Given the description of an element on the screen output the (x, y) to click on. 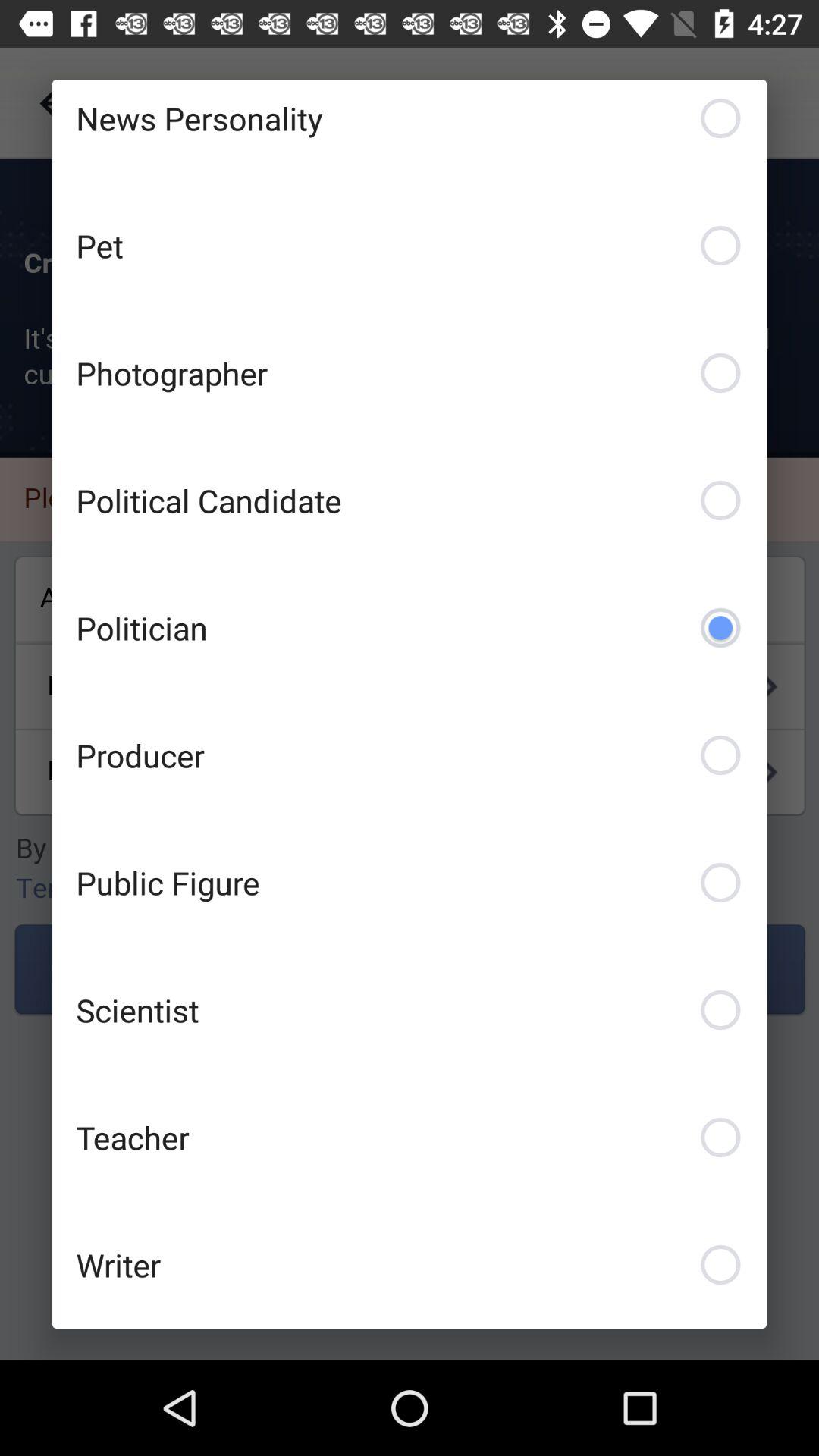
press photographer item (409, 372)
